Given the description of an element on the screen output the (x, y) to click on. 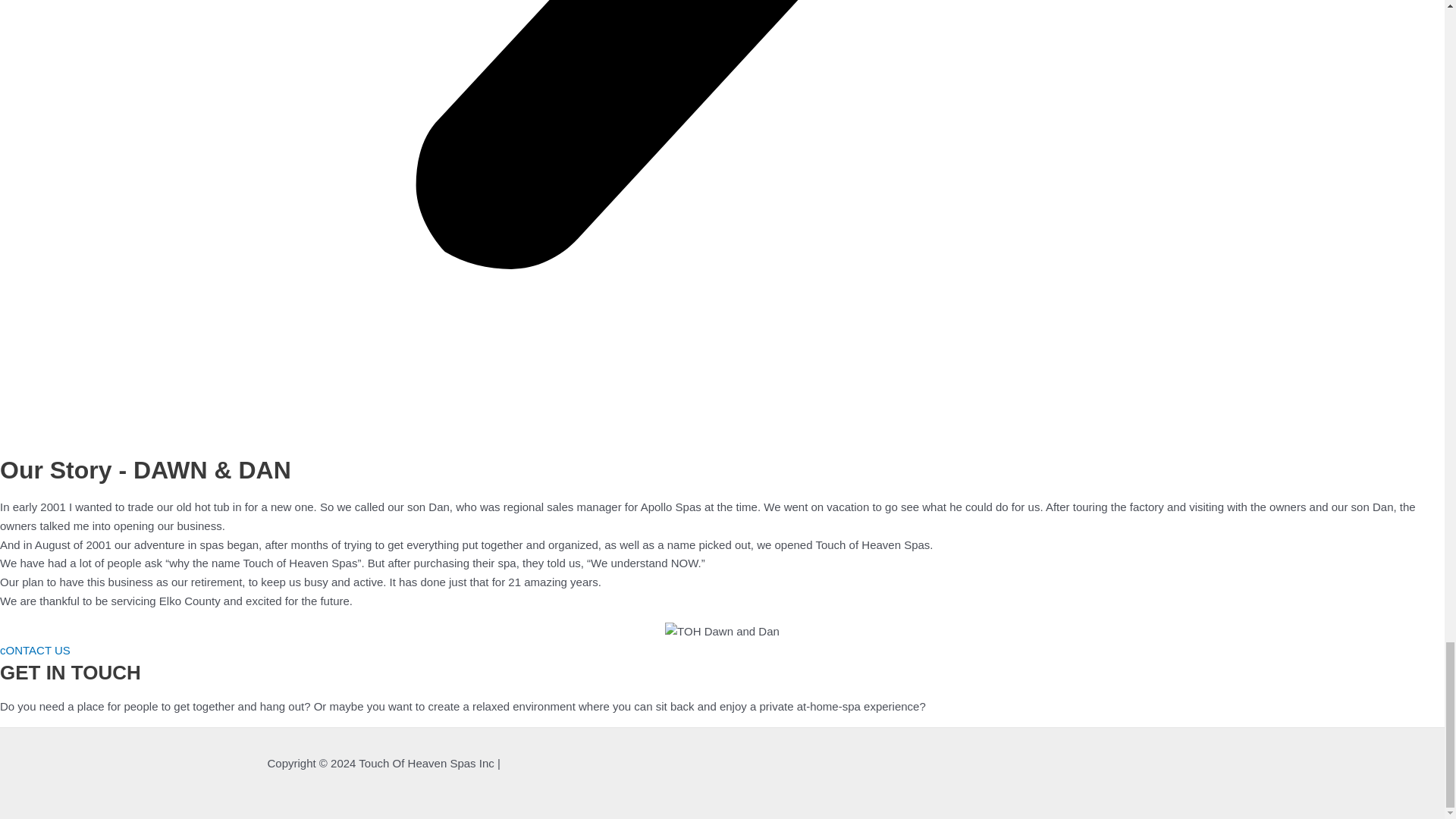
cONTACT US (34, 649)
TOH Dawn and Dan (721, 631)
